Given the description of an element on the screen output the (x, y) to click on. 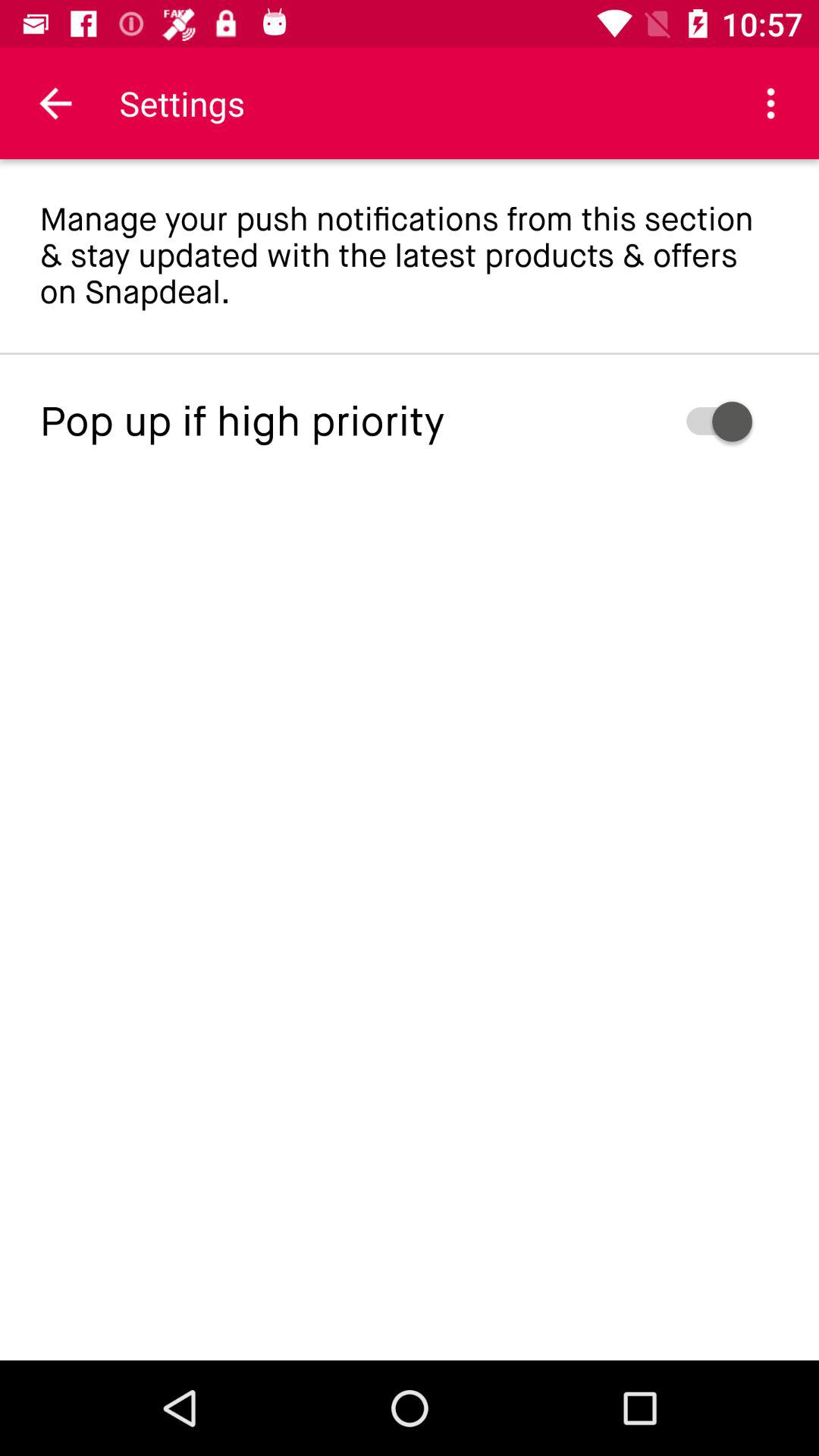
turn on item above the manage your push icon (55, 103)
